Given the description of an element on the screen output the (x, y) to click on. 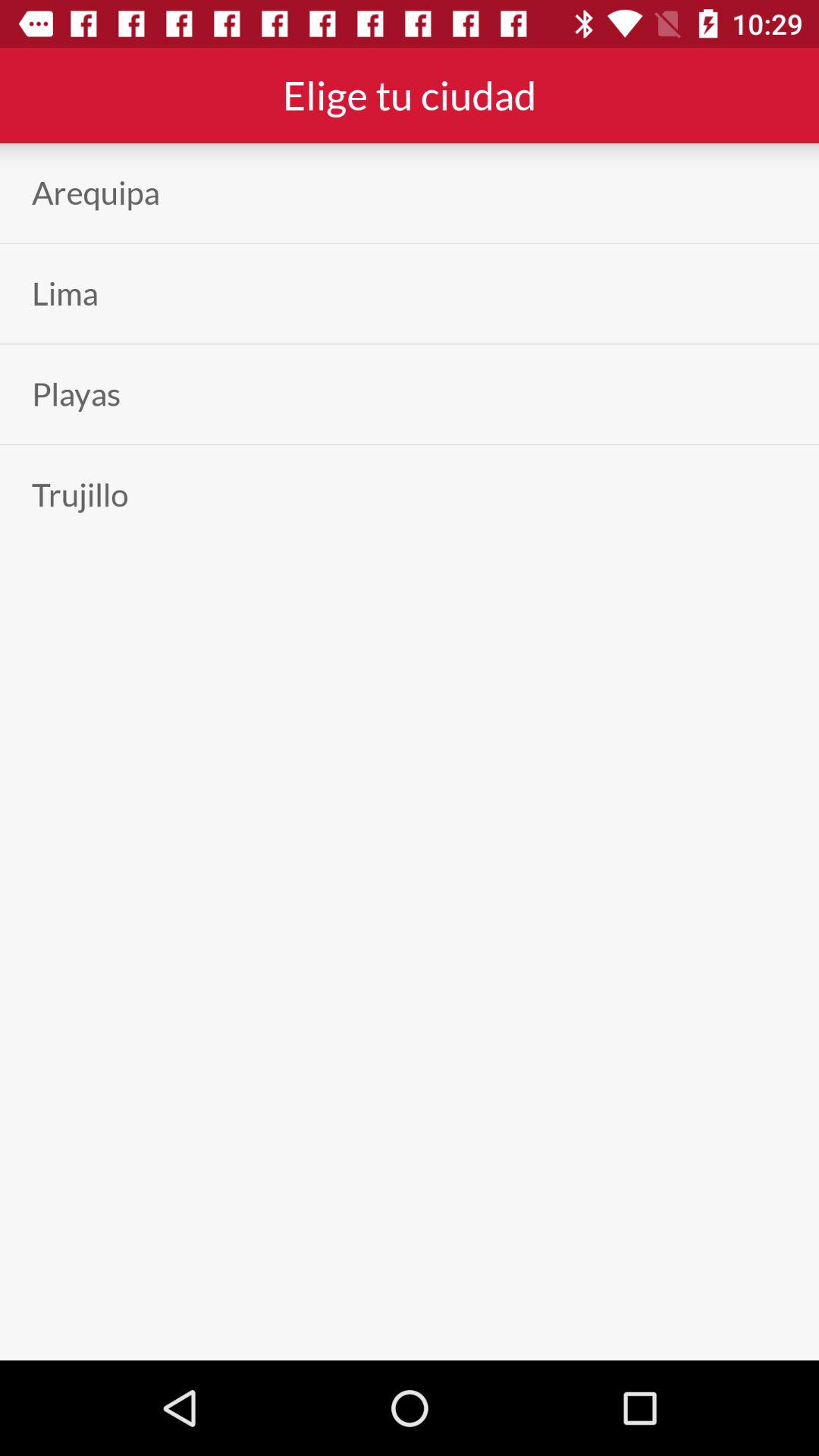
open the lima item (64, 293)
